Given the description of an element on the screen output the (x, y) to click on. 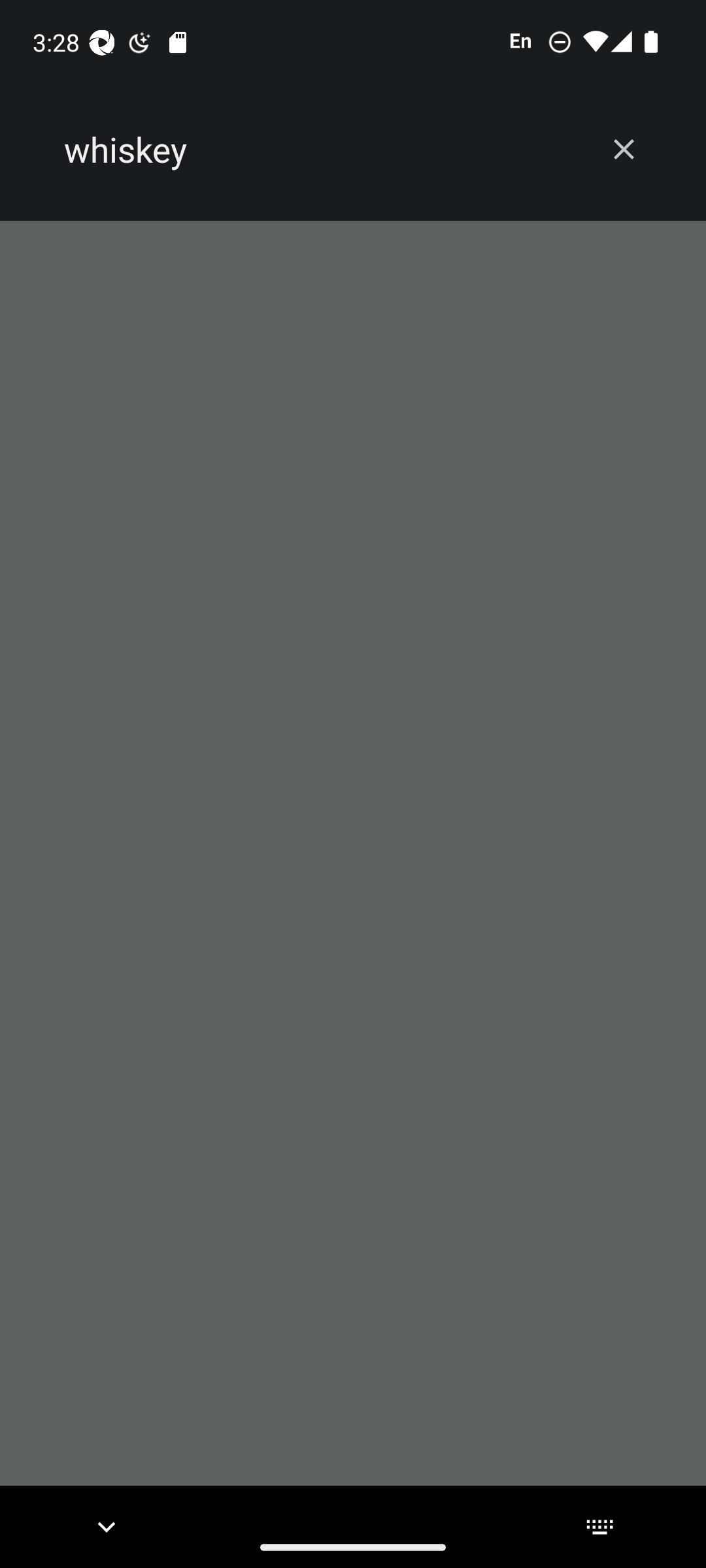
whiskey (321, 149)
Clear search box (623, 149)
